Given the description of an element on the screen output the (x, y) to click on. 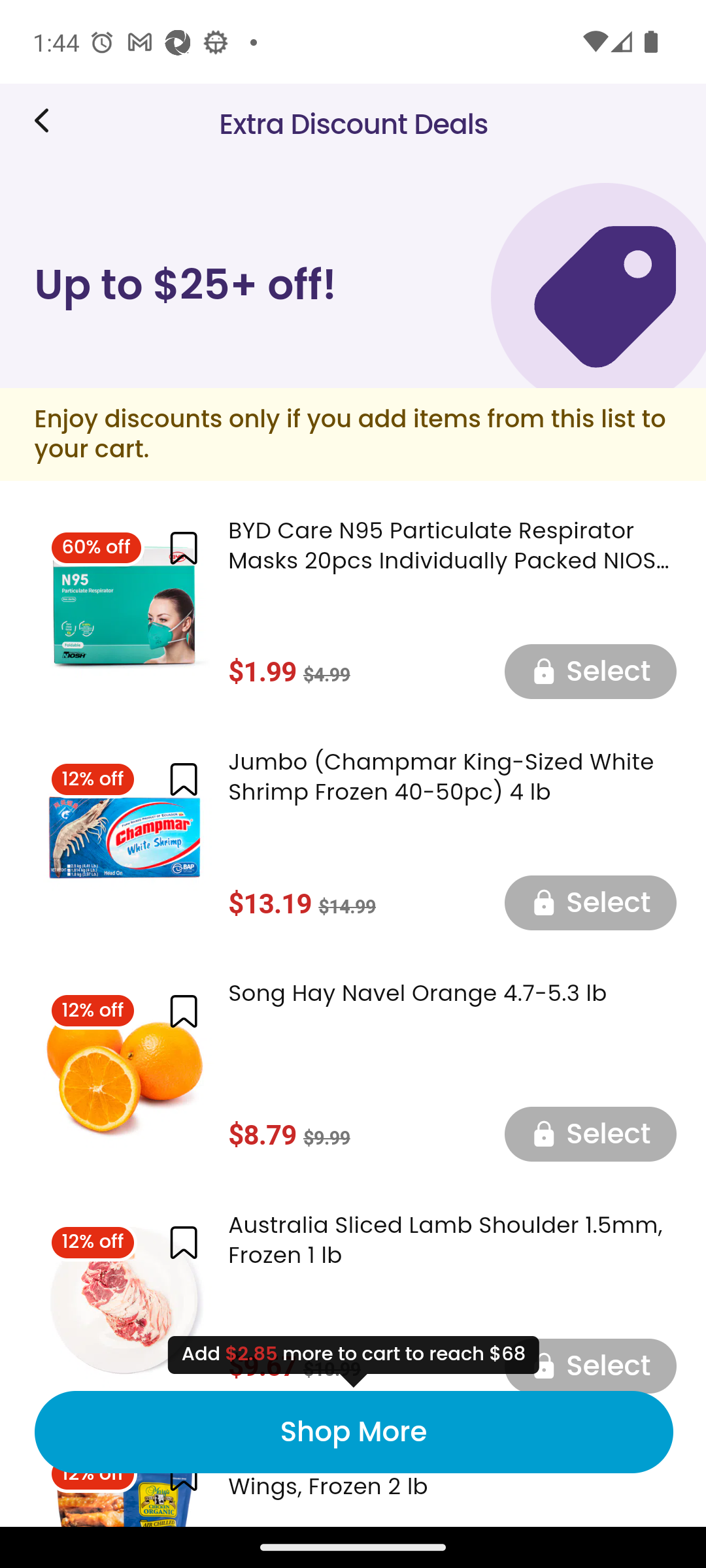
Weee! - Groceries Delivered (47, 119)
 (182, 548)
 Select (589, 670)
 (182, 778)
 Select (589, 901)
 (182, 1010)
 Select (589, 1133)
 (182, 1242)
 Select (589, 1364)
Shop More (352, 1431)
